Given the description of an element on the screen output the (x, y) to click on. 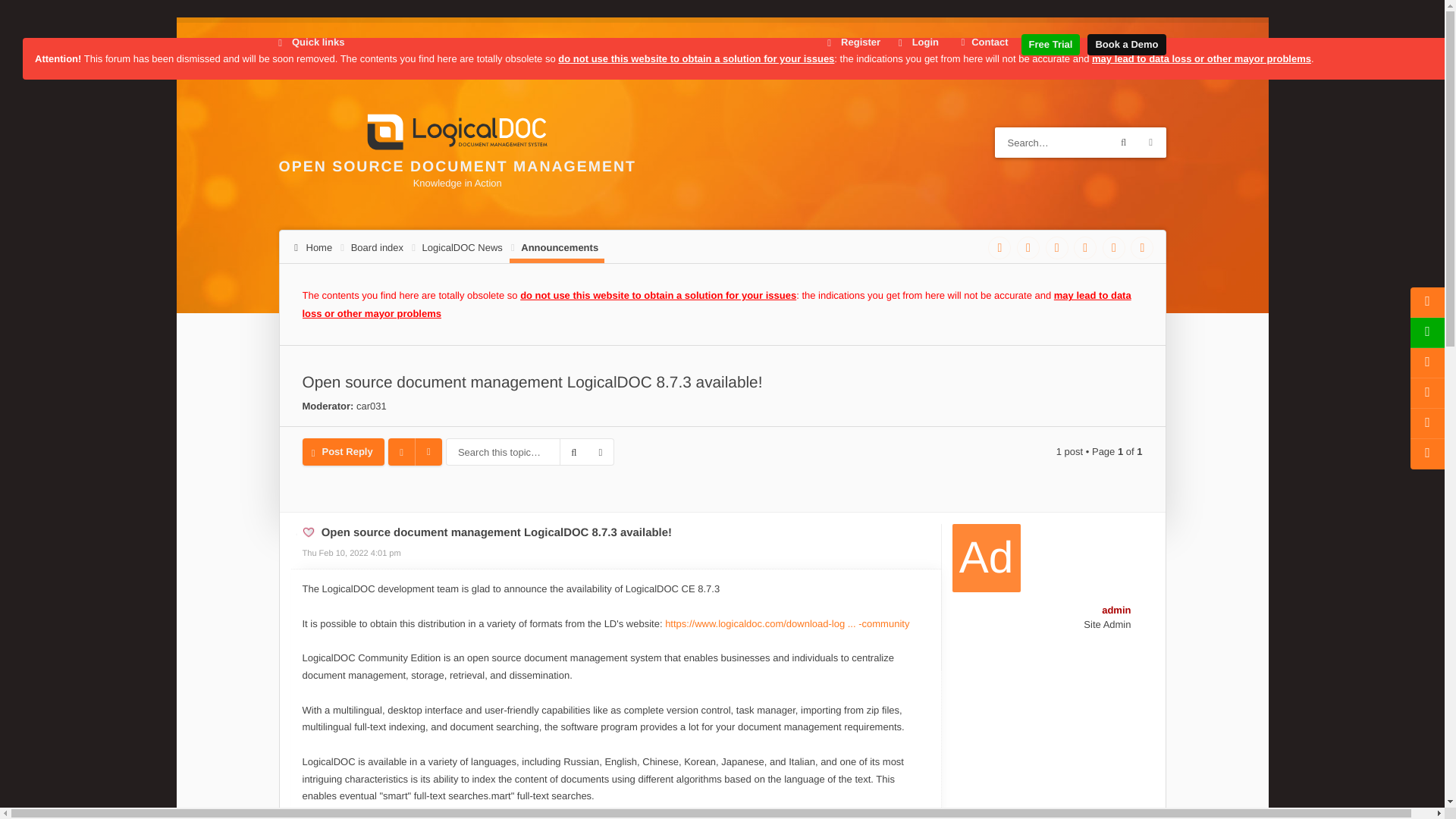
Home (314, 247)
Register (854, 42)
Open source document management LogicalDOC 8.7.3 available! (531, 382)
Login (918, 42)
LogicalDOC News (459, 247)
Search (572, 452)
Book a Demo (1125, 44)
Search for keywords (1052, 142)
Twitter (1027, 247)
car031 (371, 405)
admin (1116, 609)
Announcements (556, 247)
Contact (982, 42)
Search (1123, 142)
Advanced search (1150, 142)
